Given the description of an element on the screen output the (x, y) to click on. 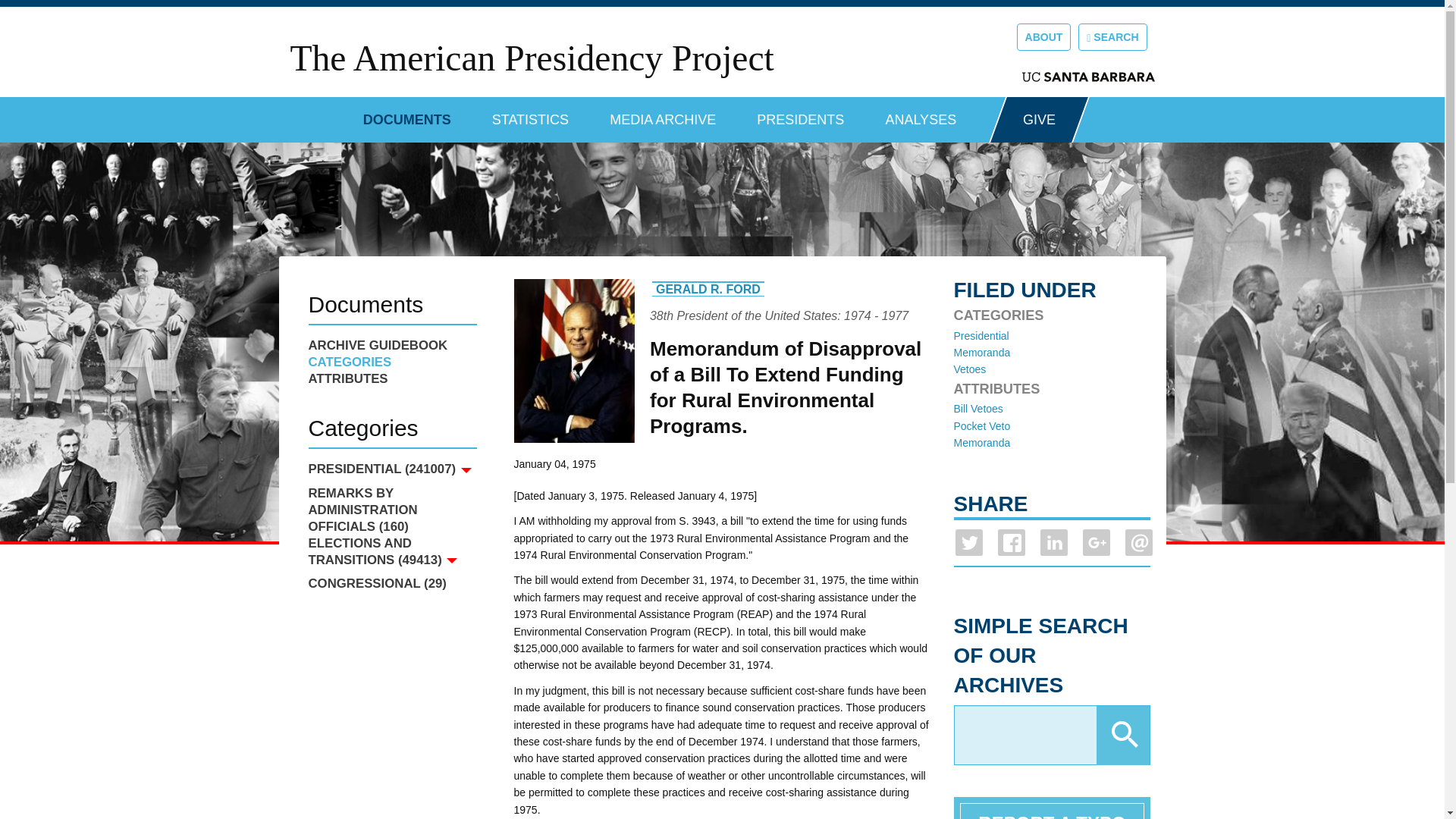
CATEGORIES (391, 362)
DOCUMENTS (406, 113)
ARCHIVE GUIDEBOOK (391, 345)
 SEARCH (1112, 36)
ATTRIBUTES (391, 379)
MEDIA ARCHIVE (663, 113)
GIVE (1038, 119)
PRESIDENTS (800, 113)
ANALYSES (920, 113)
The American Presidency Project (531, 57)
ABOUT (1043, 36)
STATISTICS (530, 113)
